Given the description of an element on the screen output the (x, y) to click on. 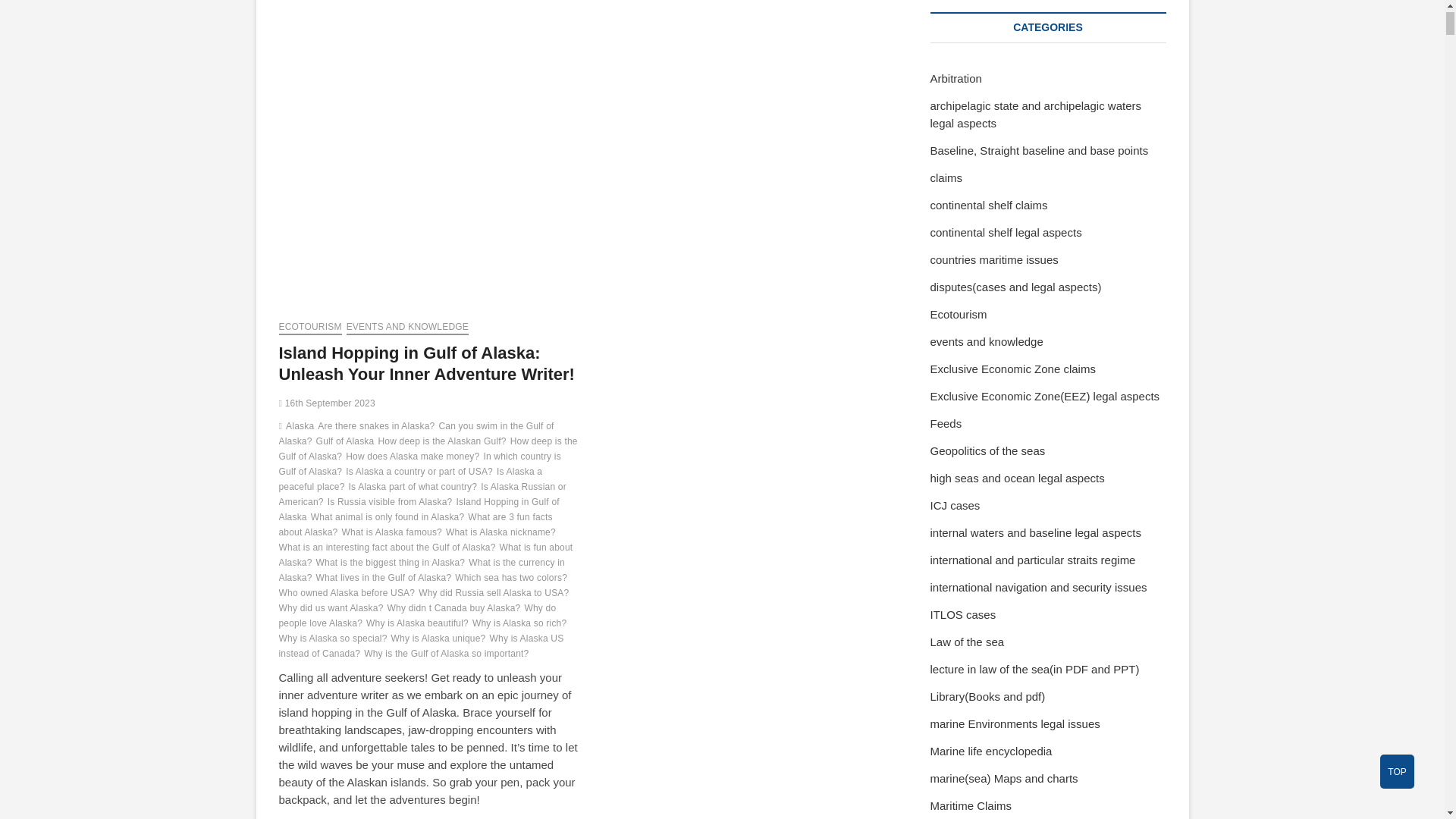
Are there snakes in Alaska? (377, 427)
How deep is the Alaskan Gulf? (443, 442)
EVENTS AND KNOWLEDGE (407, 327)
Island Hopping in Gulf of Alaska (419, 511)
What is Alaska famous? (392, 534)
16th September 2023 (327, 403)
How does Alaska make money? (414, 458)
In which country is Gulf of Alaska? (419, 465)
